Given the description of an element on the screen output the (x, y) to click on. 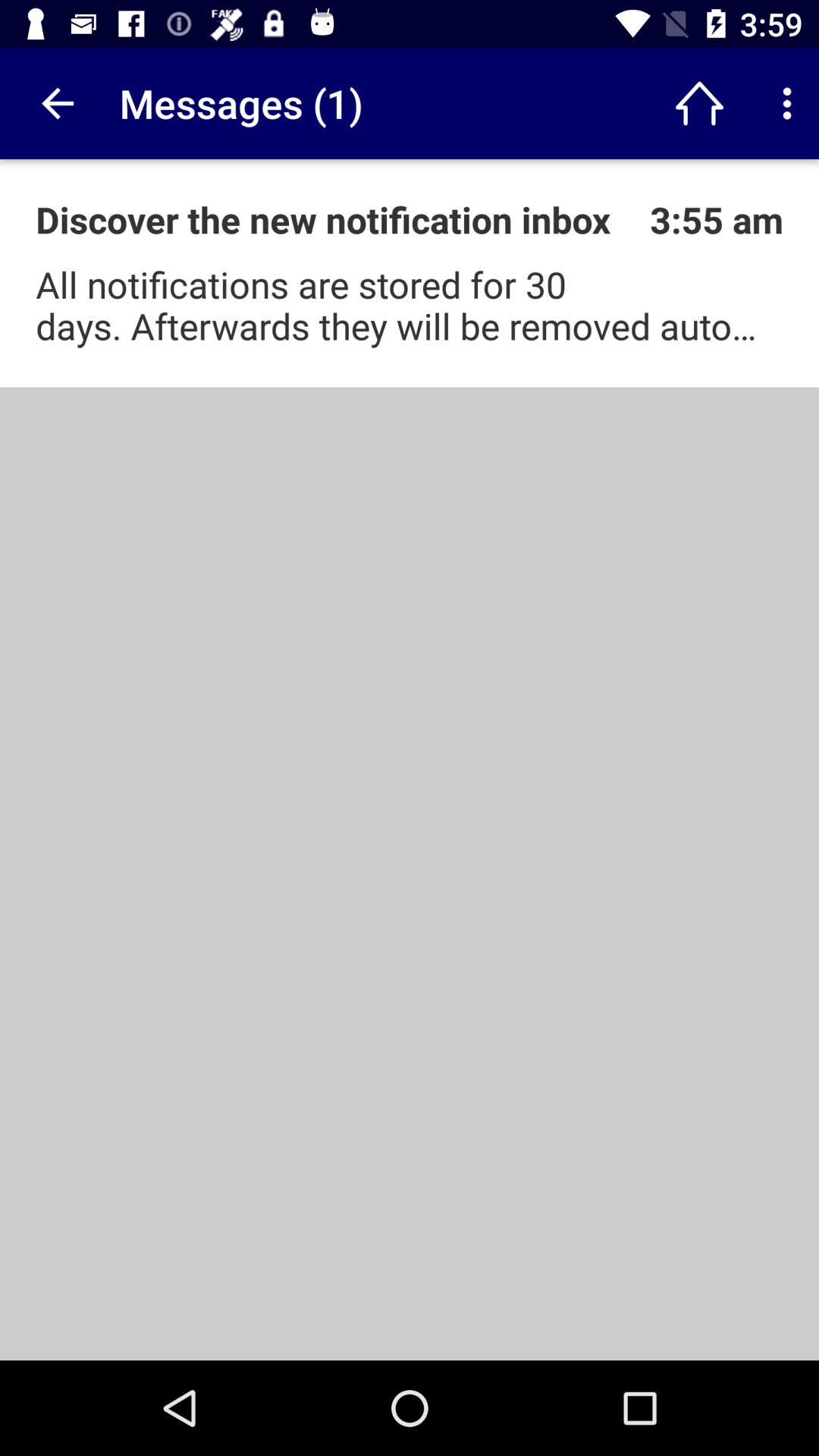
select app to the left of messages (1) app (55, 103)
